Given the description of an element on the screen output the (x, y) to click on. 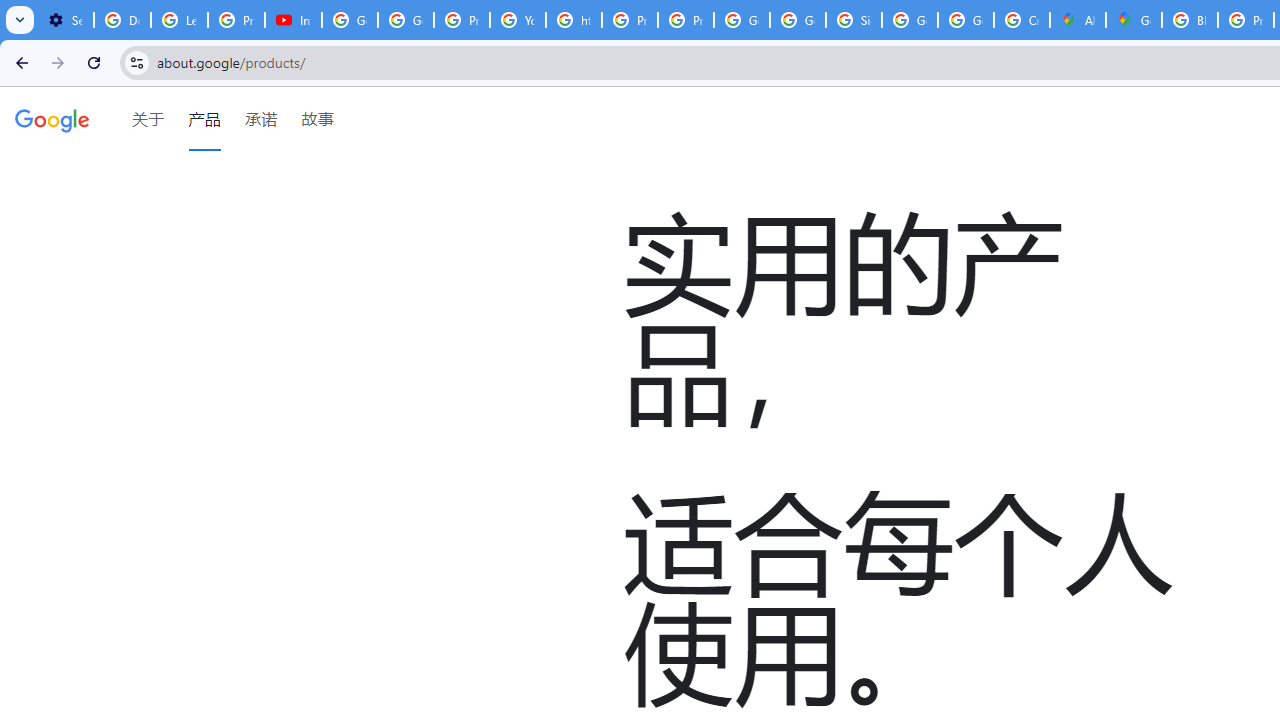
YouTube (518, 20)
